Given the description of an element on the screen output the (x, y) to click on. 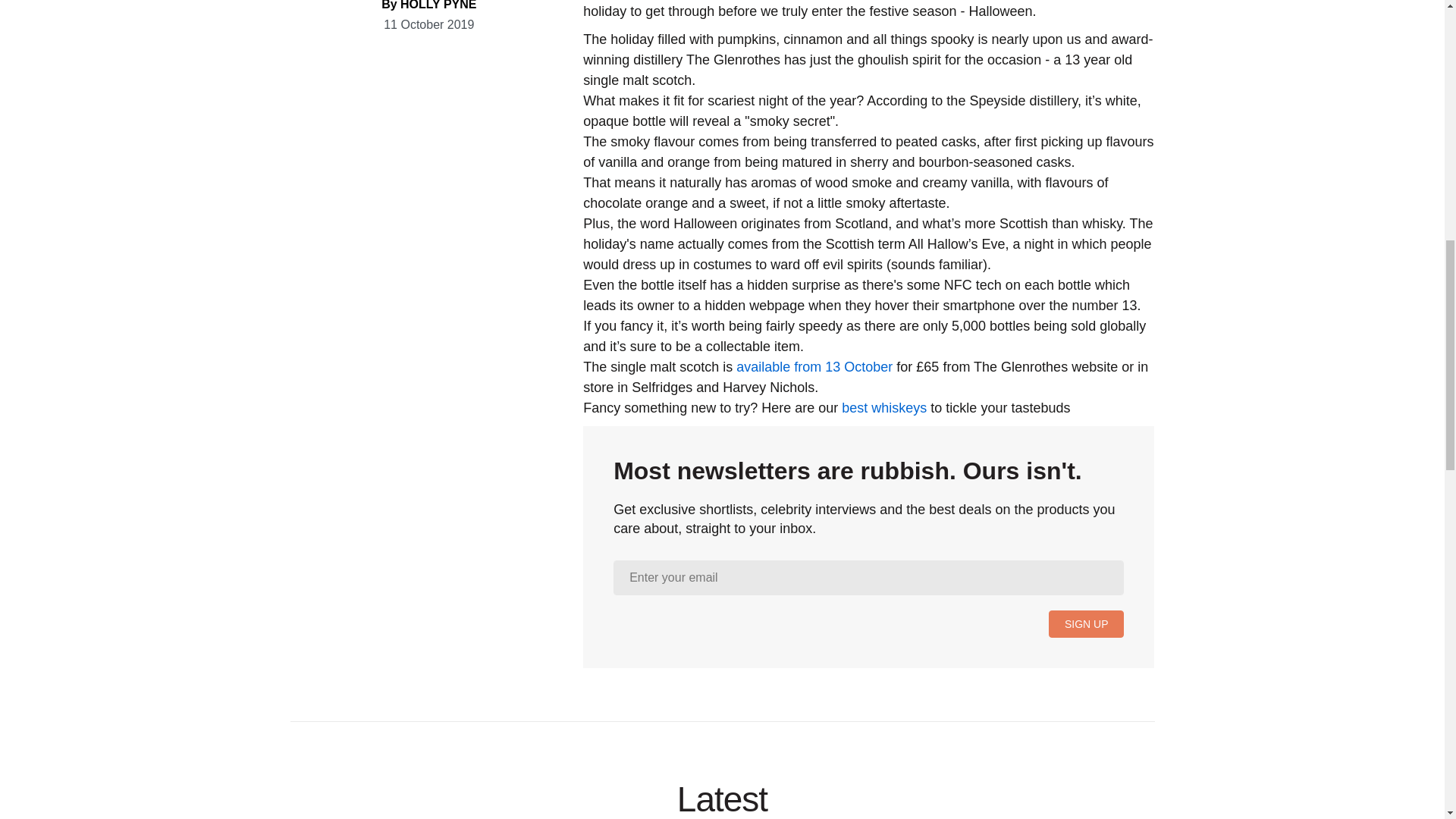
By HOLLY PYNE (428, 5)
SIGN UP (1086, 624)
available from 13 October (814, 366)
best whiskeys (883, 407)
